Given the description of an element on the screen output the (x, y) to click on. 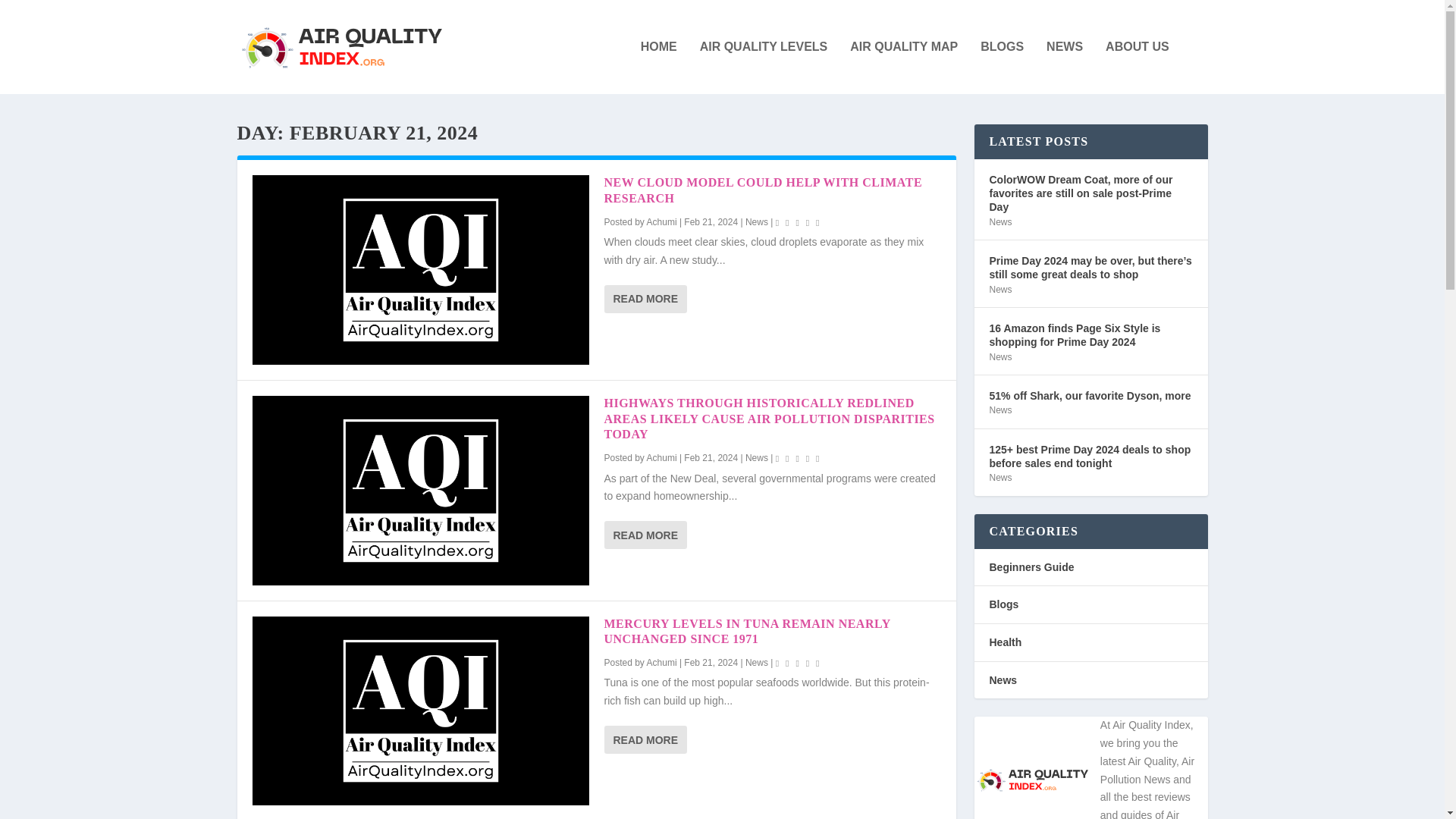
News (999, 357)
Mercury levels in tuna remain nearly unchanged since 1971 (419, 710)
READ MORE (645, 534)
News (999, 222)
Achumi (661, 457)
Posts by Achumi (661, 222)
AIR QUALITY LEVELS (764, 67)
Achumi (661, 662)
AIR QUALITY MAP (904, 67)
Rating: 0.00 (800, 458)
New cloud model could help with climate research (419, 269)
Rating: 0.00 (800, 662)
ABOUT US (1137, 67)
